Given the description of an element on the screen output the (x, y) to click on. 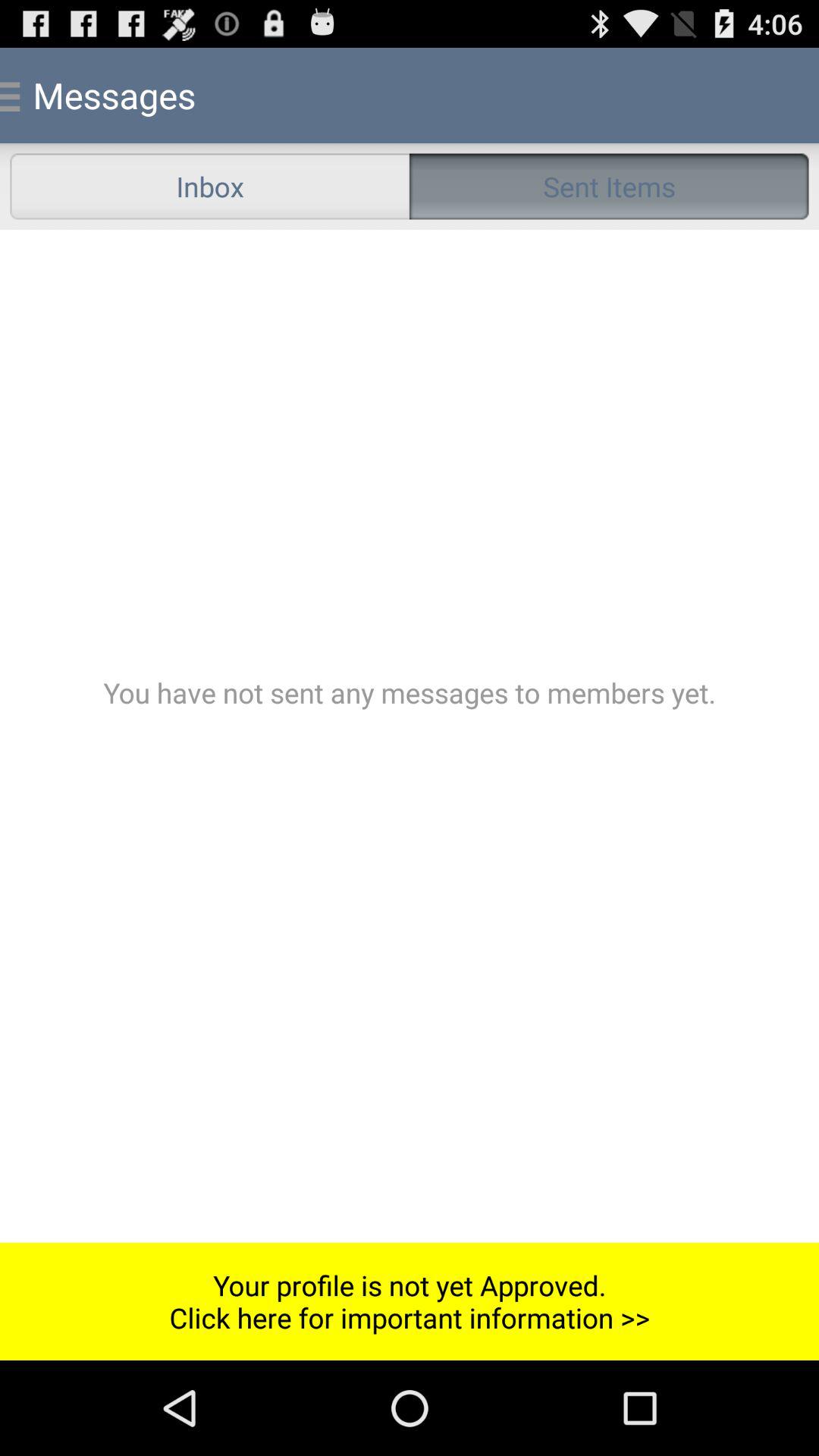
tap the your profile is at the bottom (409, 1301)
